Given the description of an element on the screen output the (x, y) to click on. 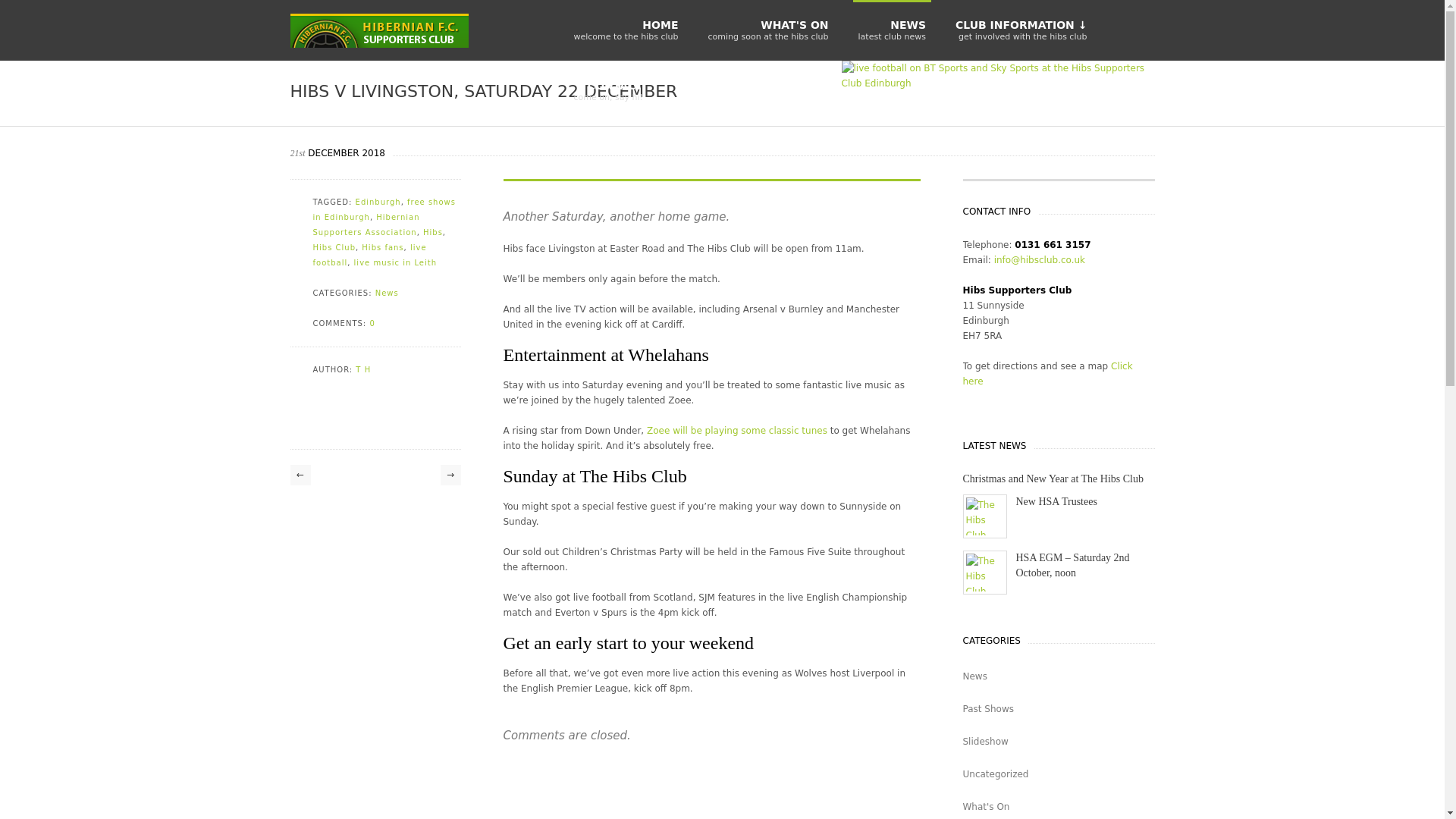
live football (369, 254)
News (1058, 675)
View Previous Post (299, 475)
Uncategorized (1058, 773)
Edinburgh (766, 30)
Welcome to The Hibs Club (378, 202)
Hibs fans (626, 30)
What's On (382, 247)
New HSA Trustees (1058, 805)
